Given the description of an element on the screen output the (x, y) to click on. 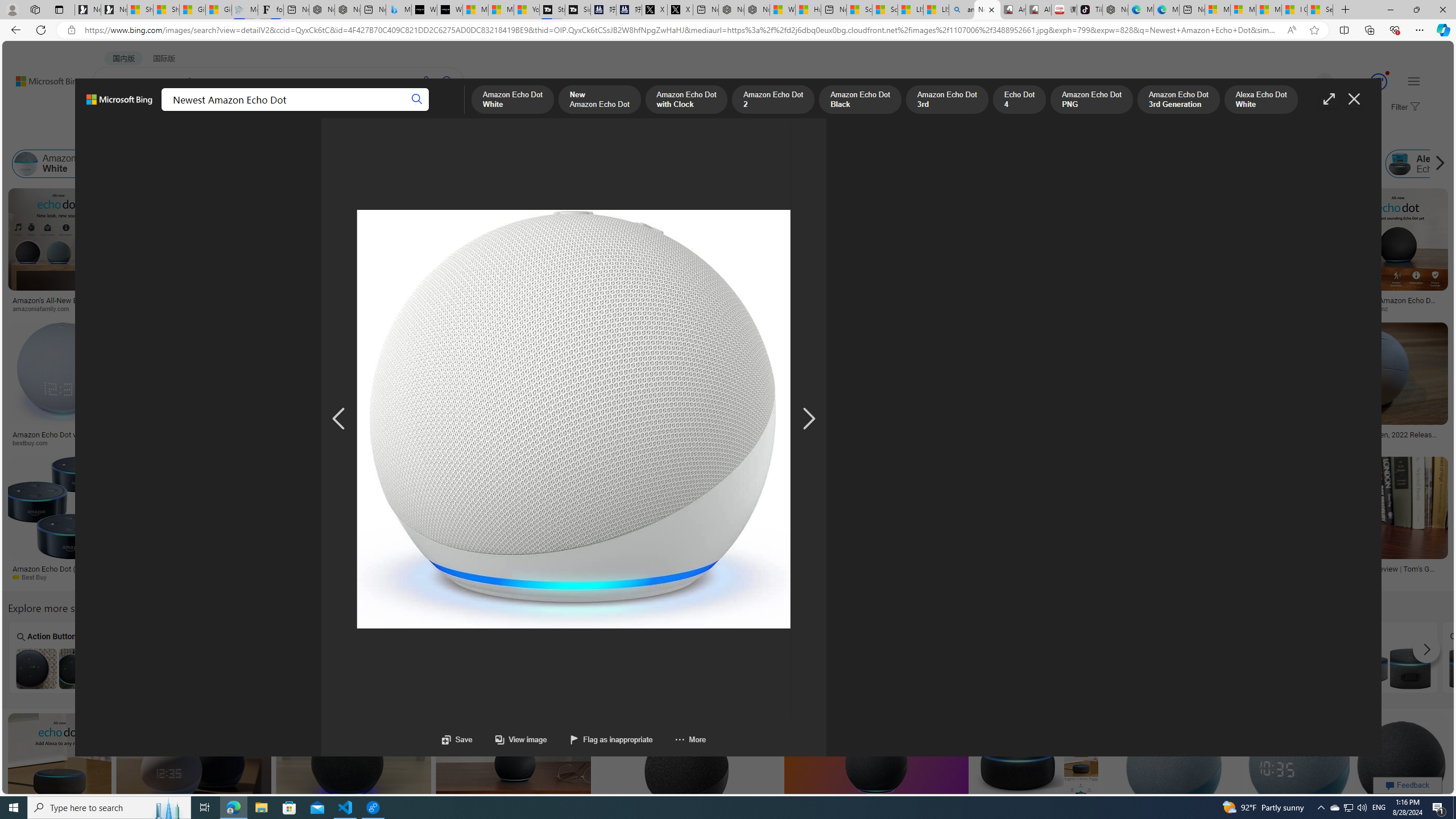
Amazon Echo Box (1219, 163)
Flag as inappropriate (599, 739)
WEB (114, 111)
Free (1388, 656)
Full screen (1328, 99)
amazoniafamily.com (58, 308)
